Given the description of an element on the screen output the (x, y) to click on. 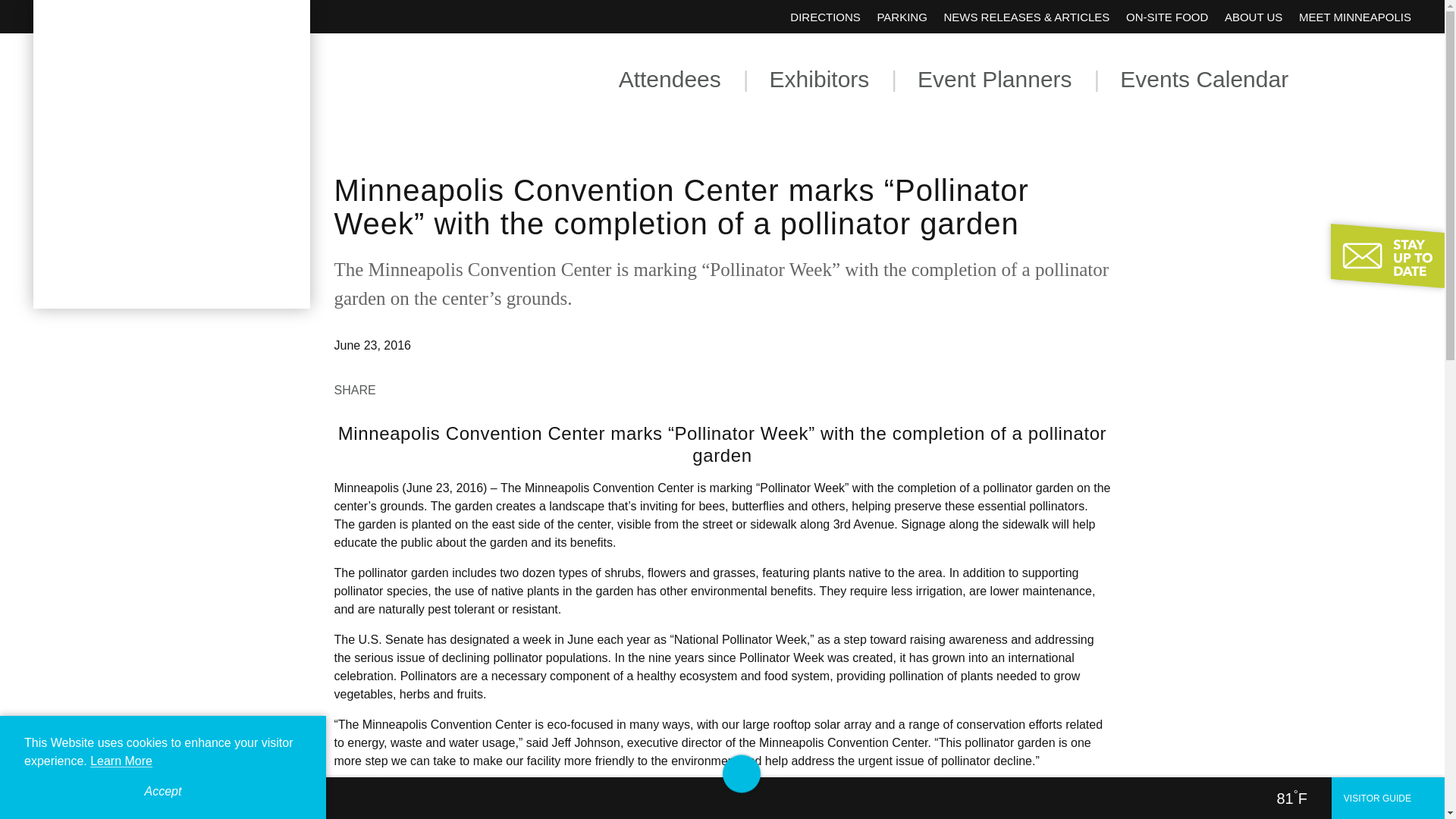
DIRECTIONS (825, 16)
Attendees (669, 78)
MEET MINNEAPOLIS (1354, 16)
Event Planners (994, 78)
ABOUT US (1253, 16)
Email this page (467, 388)
Live chat (1401, 752)
Events Calendar (1203, 78)
Conservation of Minneapolis Bees Project (664, 809)
Share on Twitter (433, 388)
ON-SITE FOOD (1166, 16)
PARKING (901, 16)
Skip to content (17, 15)
Share on Facebook (400, 388)
Exhibitors (819, 78)
